Given the description of an element on the screen output the (x, y) to click on. 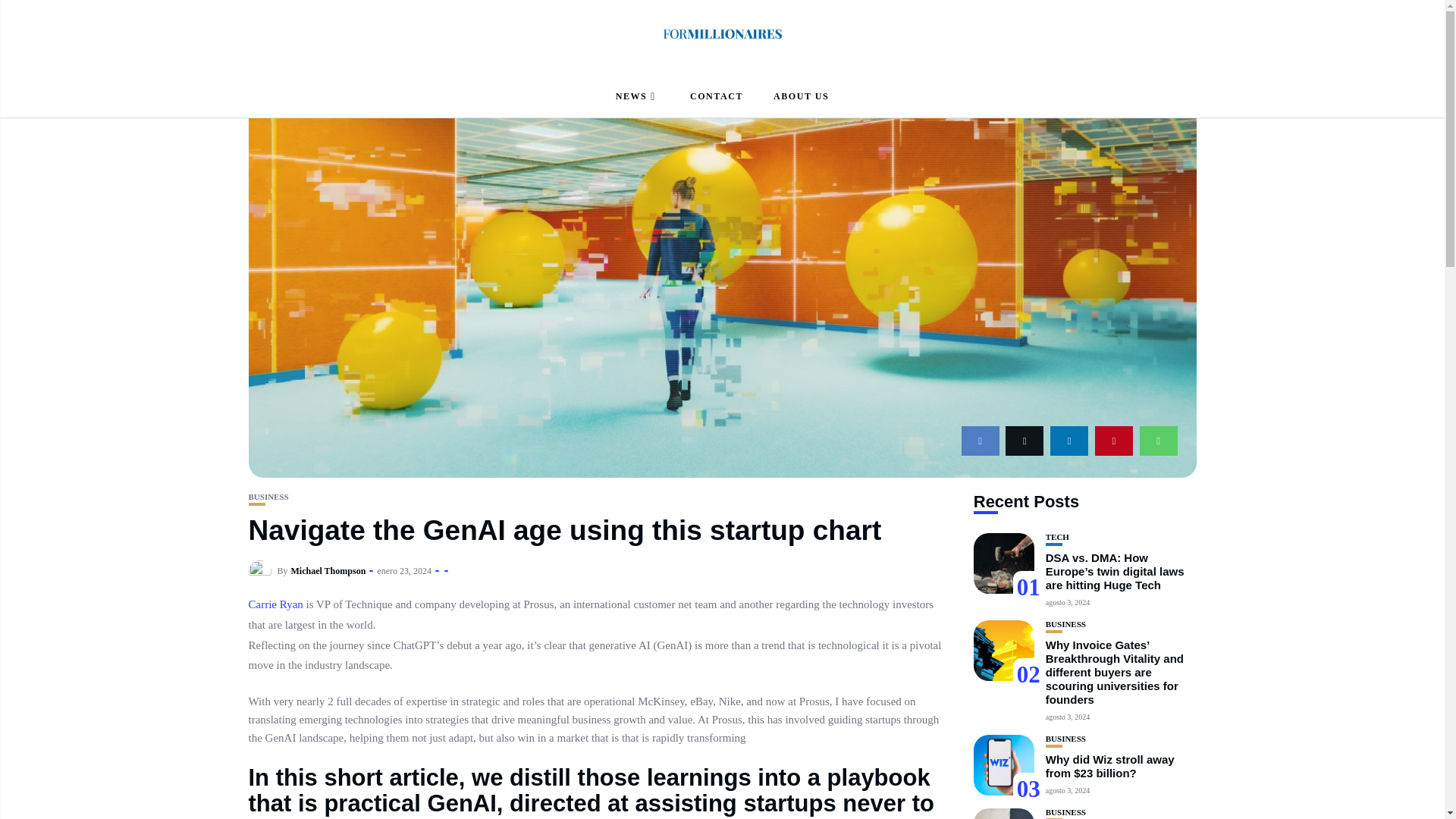
TECH (1056, 537)
NEWS (637, 96)
CONTACT (716, 96)
Michael Thompson (328, 570)
Entradas de Michael Thompson (328, 570)
facebook (979, 440)
BUSINESS (268, 497)
Carrie Ryan (275, 604)
ABOUT US (800, 96)
